Given the description of an element on the screen output the (x, y) to click on. 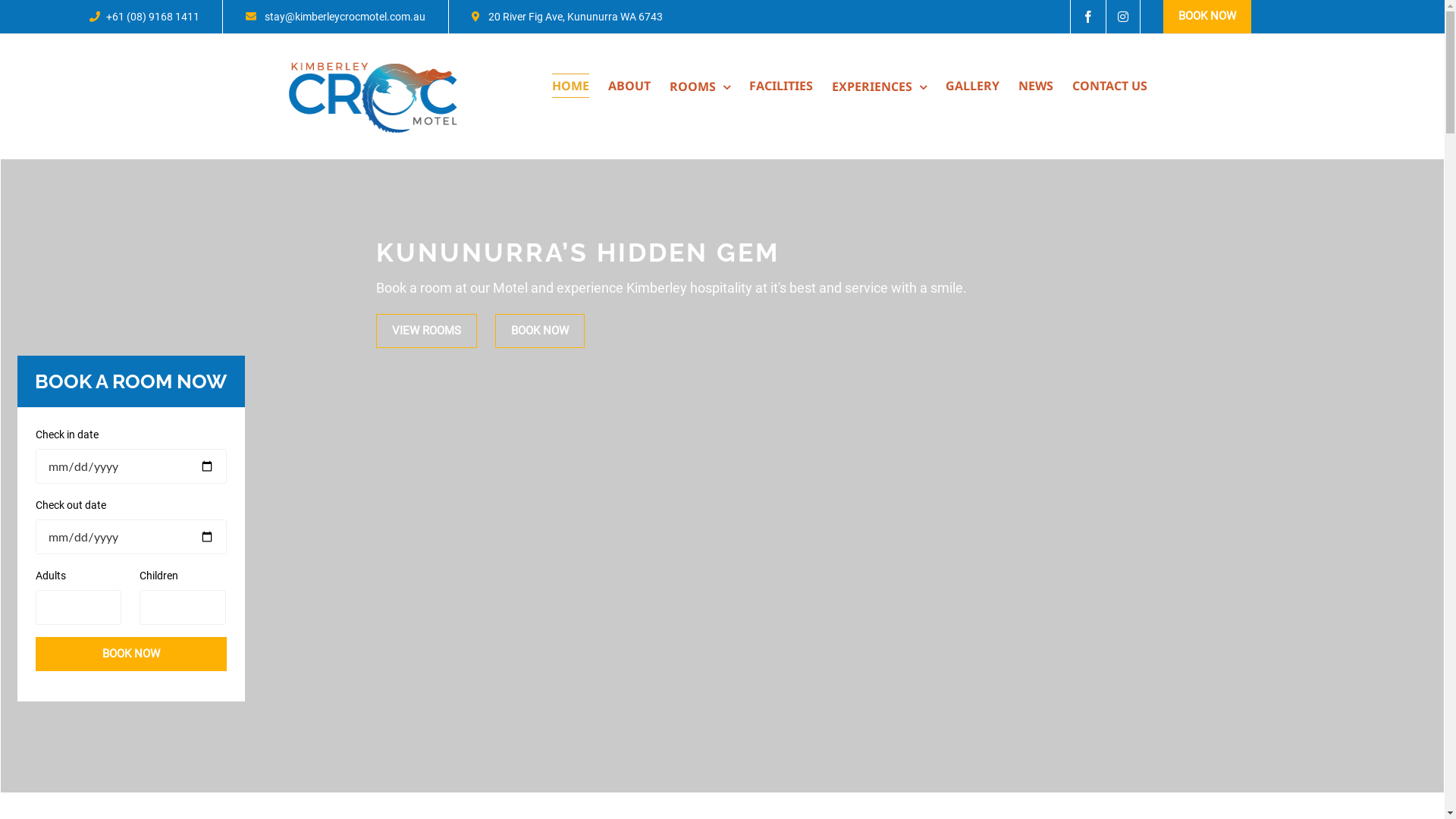
GALLERY Element type: text (971, 85)
Facebook Element type: text (1088, 16)
Instagram Element type: text (1123, 16)
BOOK NOW Element type: text (1207, 16)
NEWS Element type: text (1034, 85)
CONTACT US Element type: text (1109, 85)
ROOMS Element type: text (698, 86)
FACILITIES Element type: text (780, 85)
EXPERIENCES Element type: text (878, 86)
stay@kimberleycrocmotel.com.au Element type: text (335, 16)
Book Now Element type: text (130, 654)
VIEW ROOMS Element type: text (426, 330)
ABOUT Element type: text (629, 85)
BOOK NOW Element type: text (539, 330)
HOME Element type: text (570, 85)
+61 (08) 9168 1411 Element type: text (144, 16)
